Given the description of an element on the screen output the (x, y) to click on. 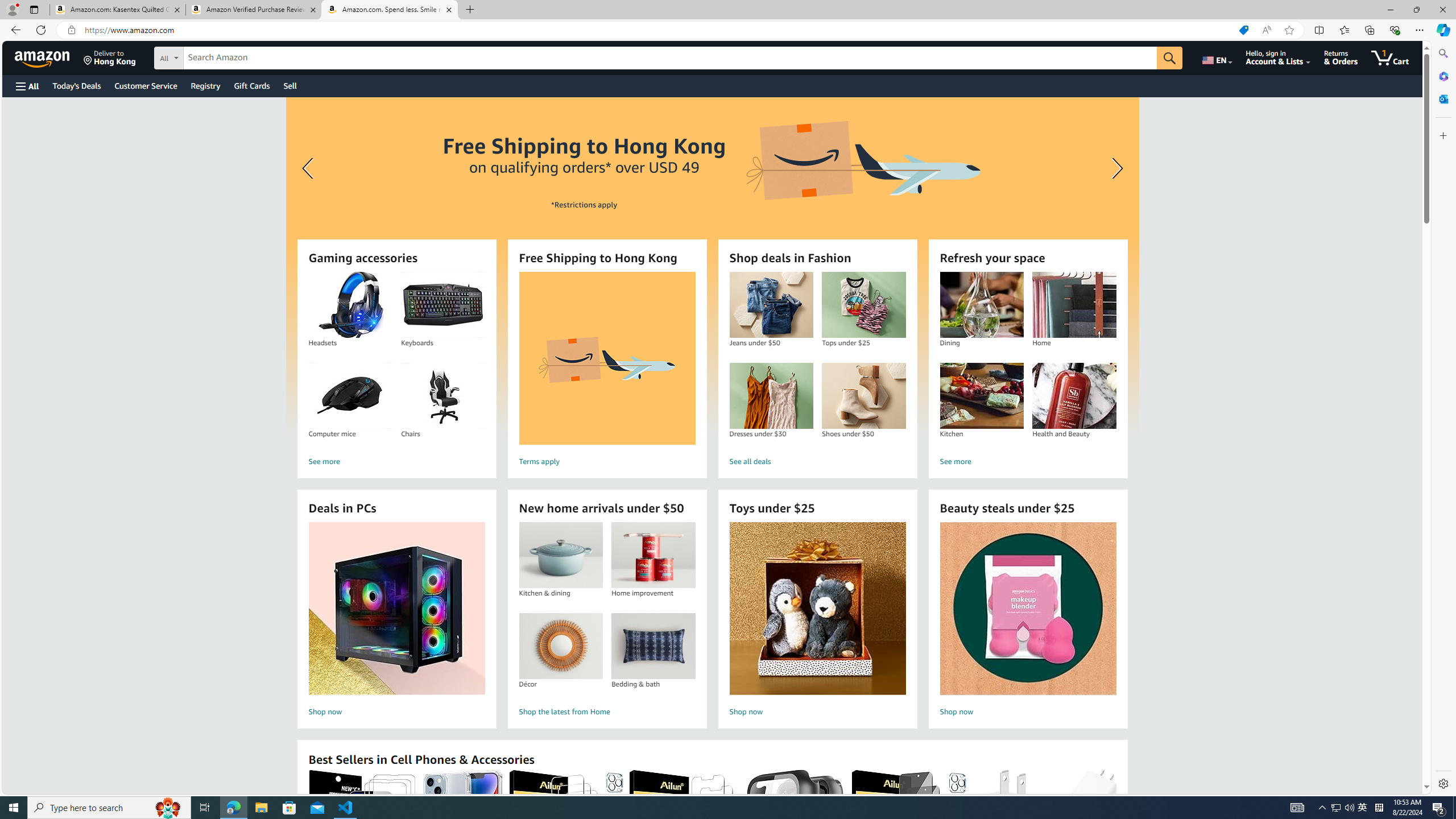
Registry (205, 85)
Returns & Orders (1340, 57)
Free Shipping to Hong Kong Learn more (711, 267)
Computer mice (350, 395)
